Given the description of an element on the screen output the (x, y) to click on. 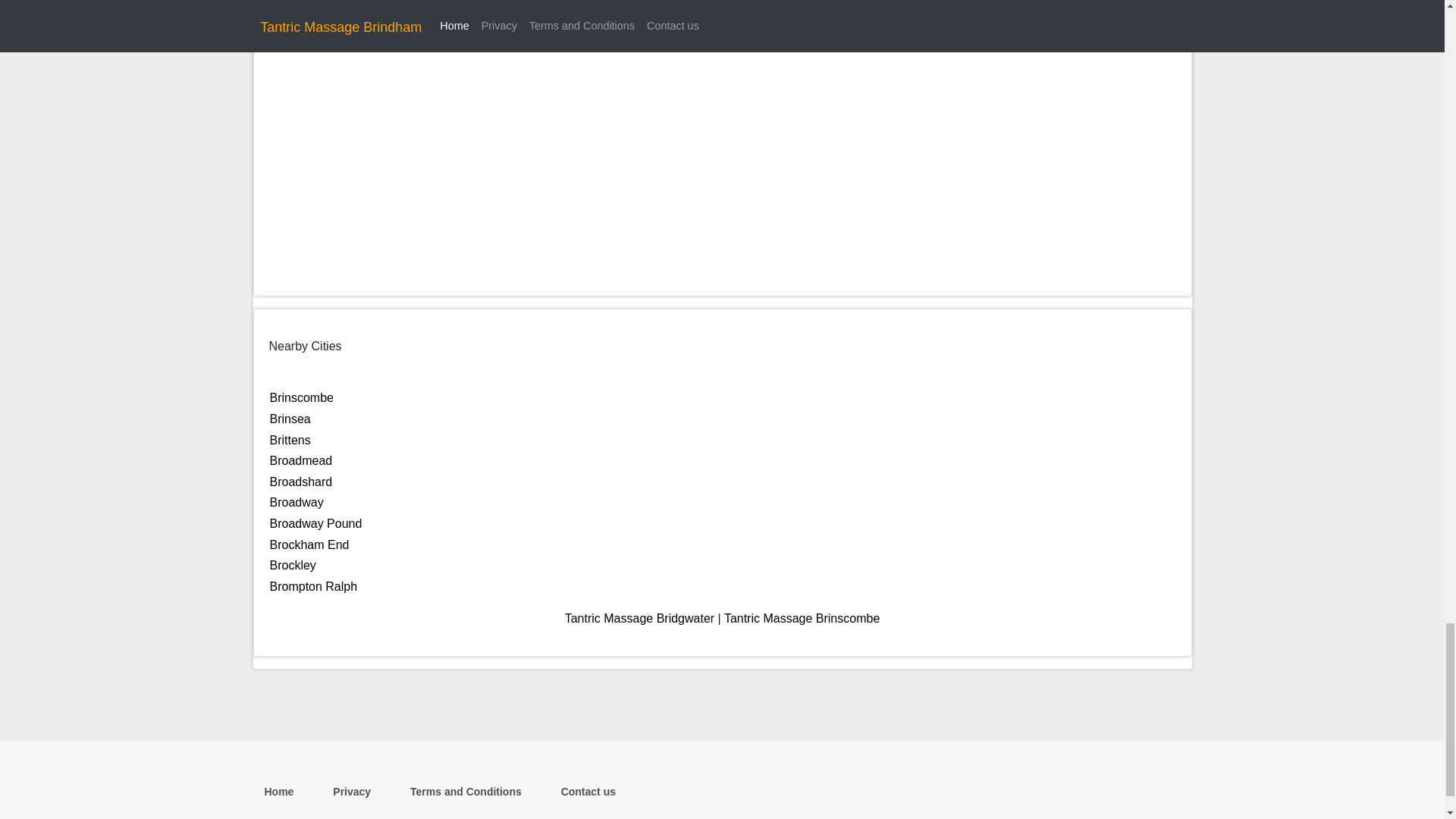
Tantric Massage Brinscombe (801, 617)
Brompton Ralph (313, 585)
Brittens (290, 440)
Tantric Massage Bridgwater (639, 617)
Broadmead (301, 460)
Brockham End (309, 544)
Brinscombe (301, 397)
Broadway (296, 502)
Brockley (292, 564)
Broadshard (301, 481)
Broadway Pound (315, 522)
Brinsea (290, 418)
